Given the description of an element on the screen output the (x, y) to click on. 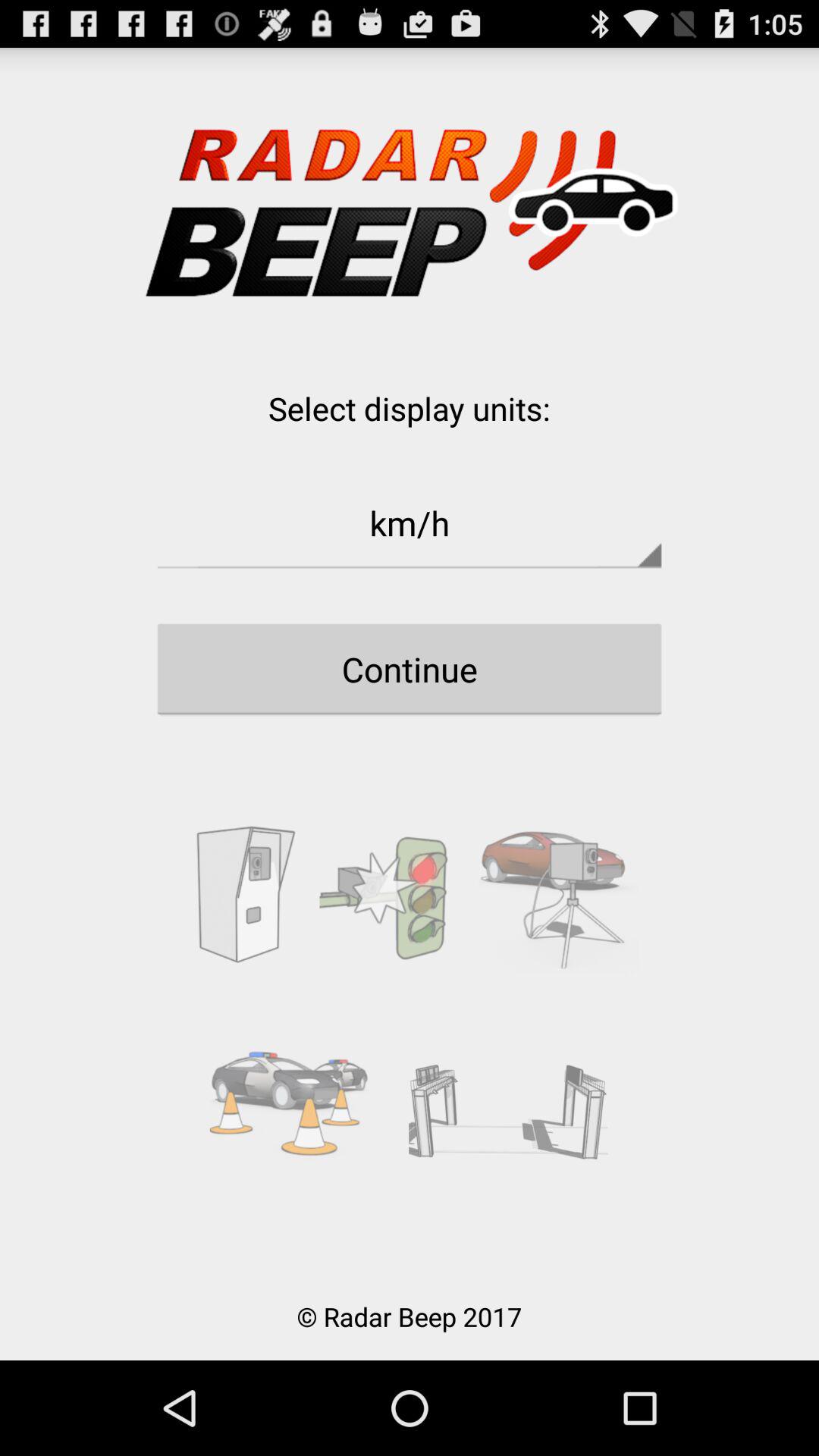
jump until continue icon (409, 668)
